Given the description of an element on the screen output the (x, y) to click on. 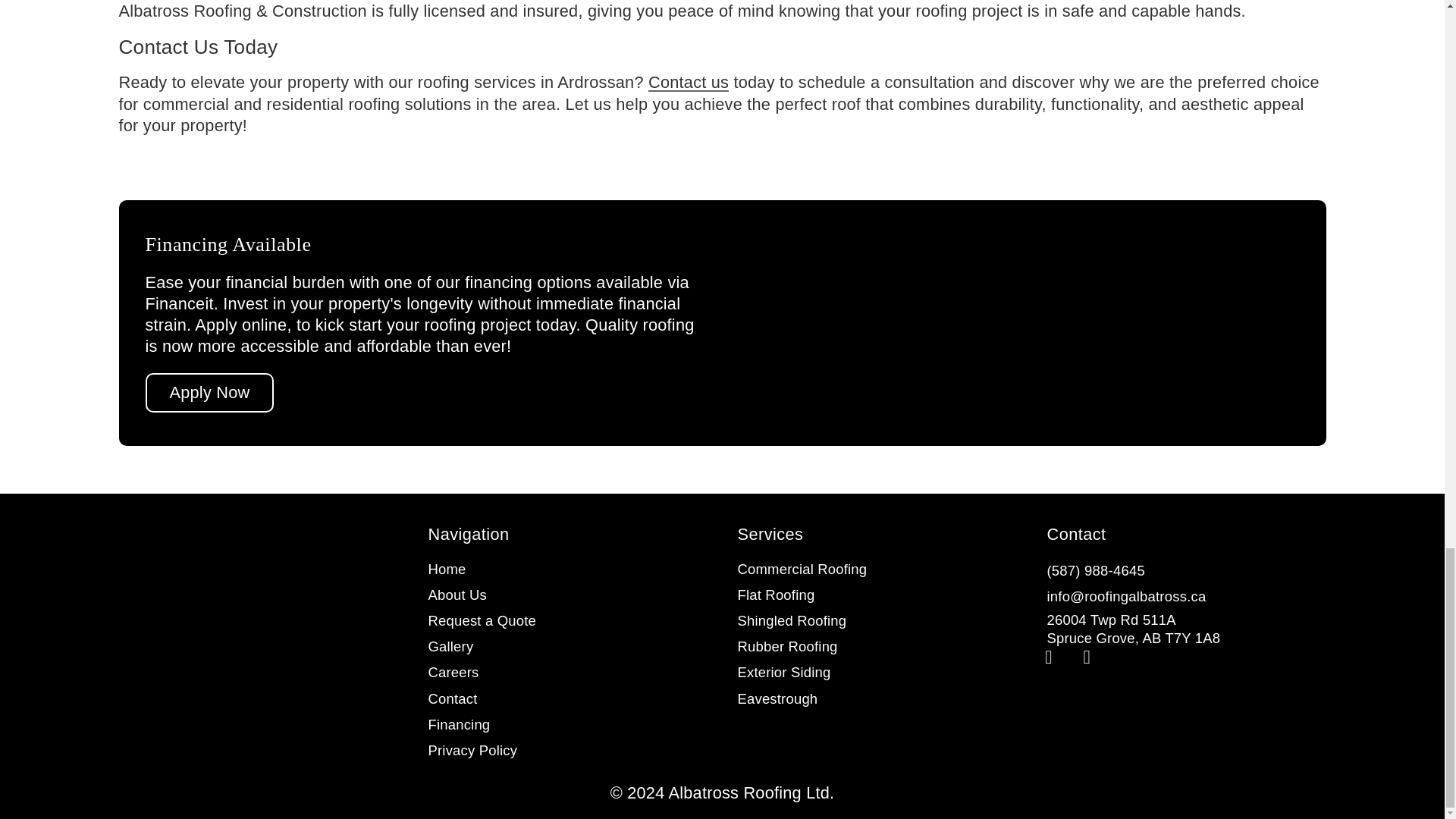
Contact us (688, 81)
